Given the description of an element on the screen output the (x, y) to click on. 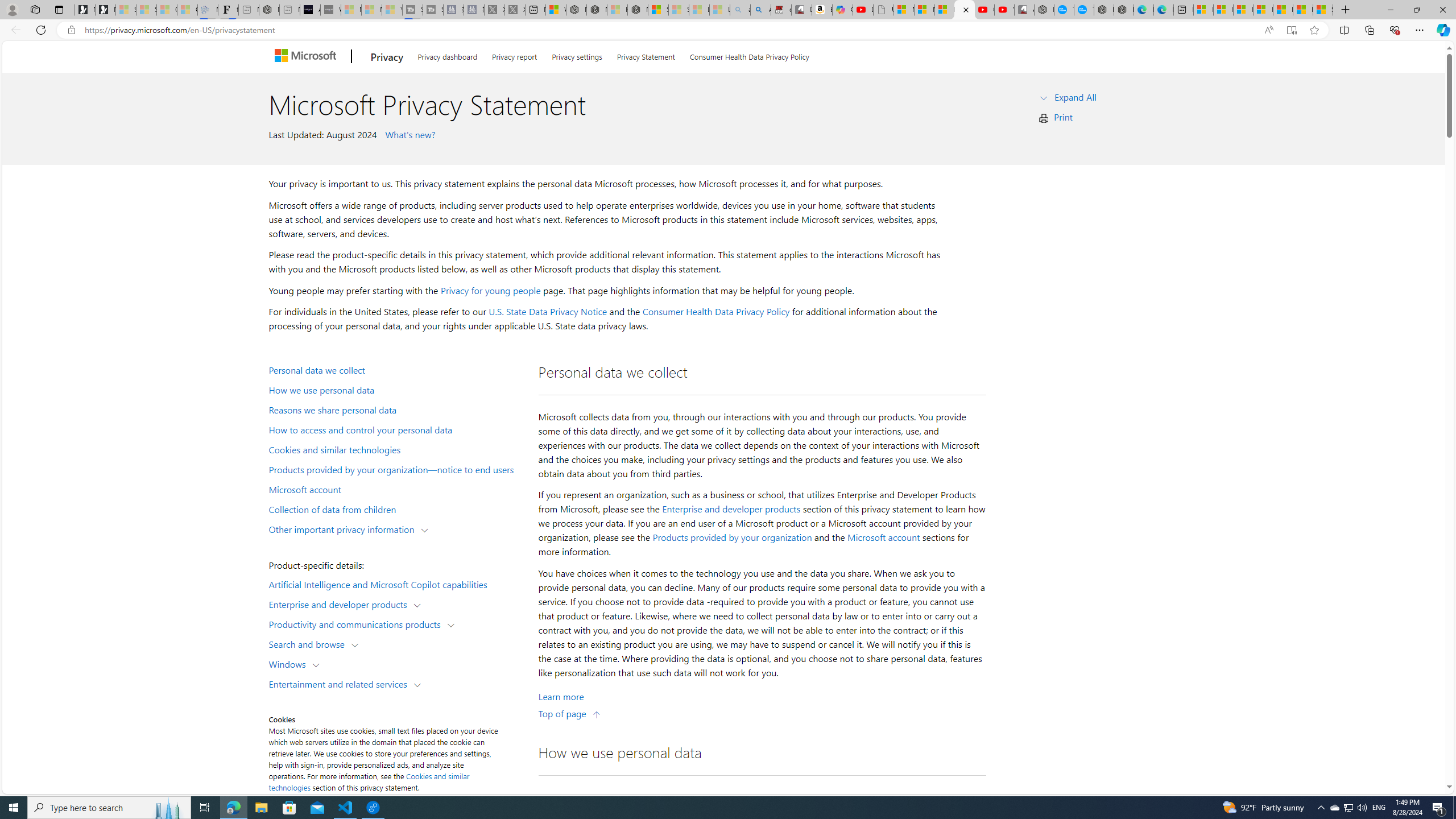
Artificial Intelligence and Microsoft Copilot capabilities (395, 583)
Enter Immersive Reader (F9) (1291, 29)
Gloom - YouTube (983, 9)
Expand All (1075, 96)
X - Sleeping (514, 9)
Microsoft account | Privacy (1262, 9)
The most popular Google 'how to' searches (1083, 9)
Print (1063, 116)
Privacy report (514, 54)
U.S. State Data Privacy Notice (548, 311)
What's the best AI voice generator? - voice.ai - Sleeping (330, 9)
Microsoft Start Sports - Sleeping (351, 9)
